Given the description of an element on the screen output the (x, y) to click on. 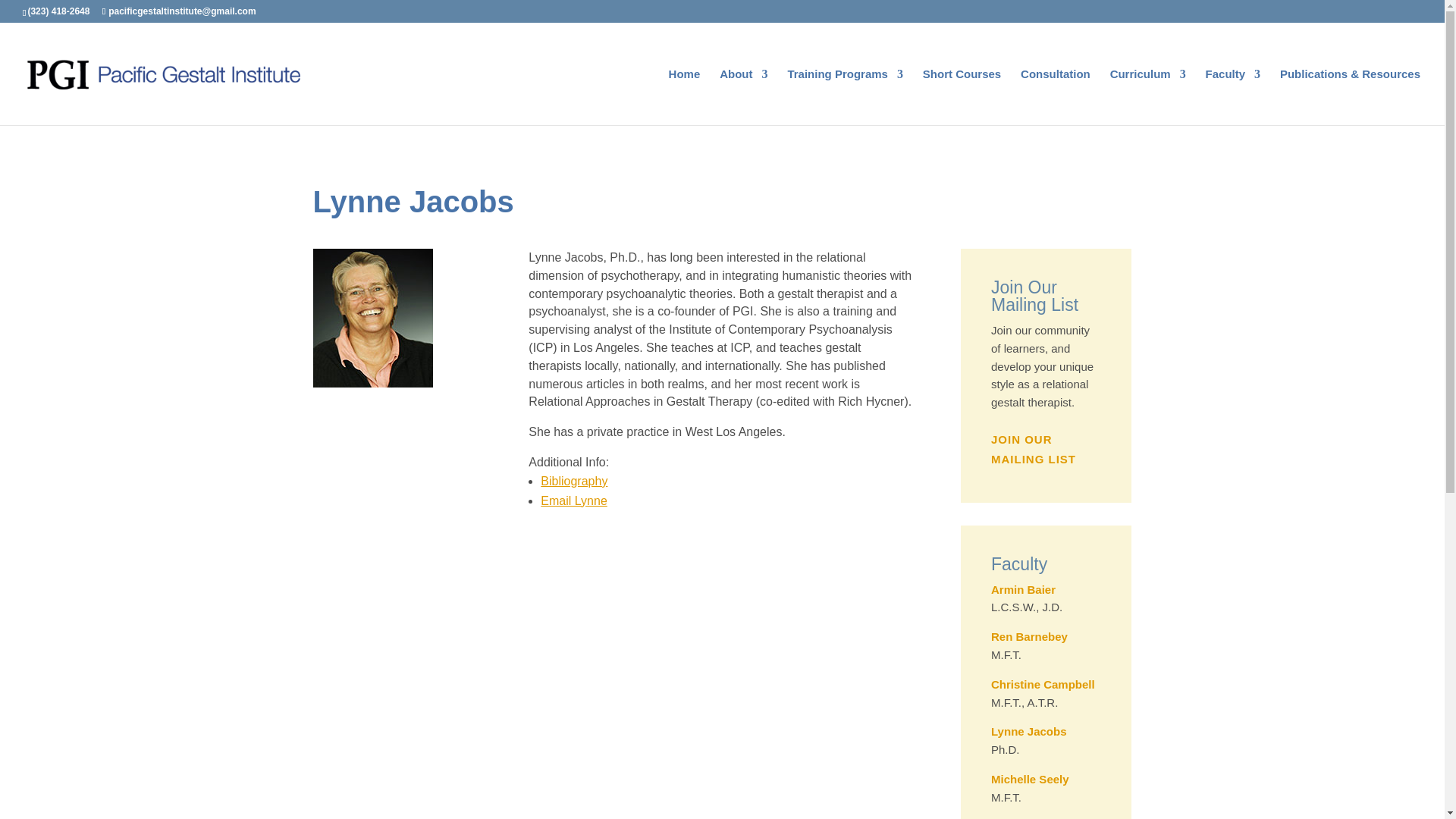
Short Courses (962, 96)
Training Programs (844, 96)
Consultation (1055, 96)
Curriculum (1147, 96)
Faculty (1232, 96)
